Given the description of an element on the screen output the (x, y) to click on. 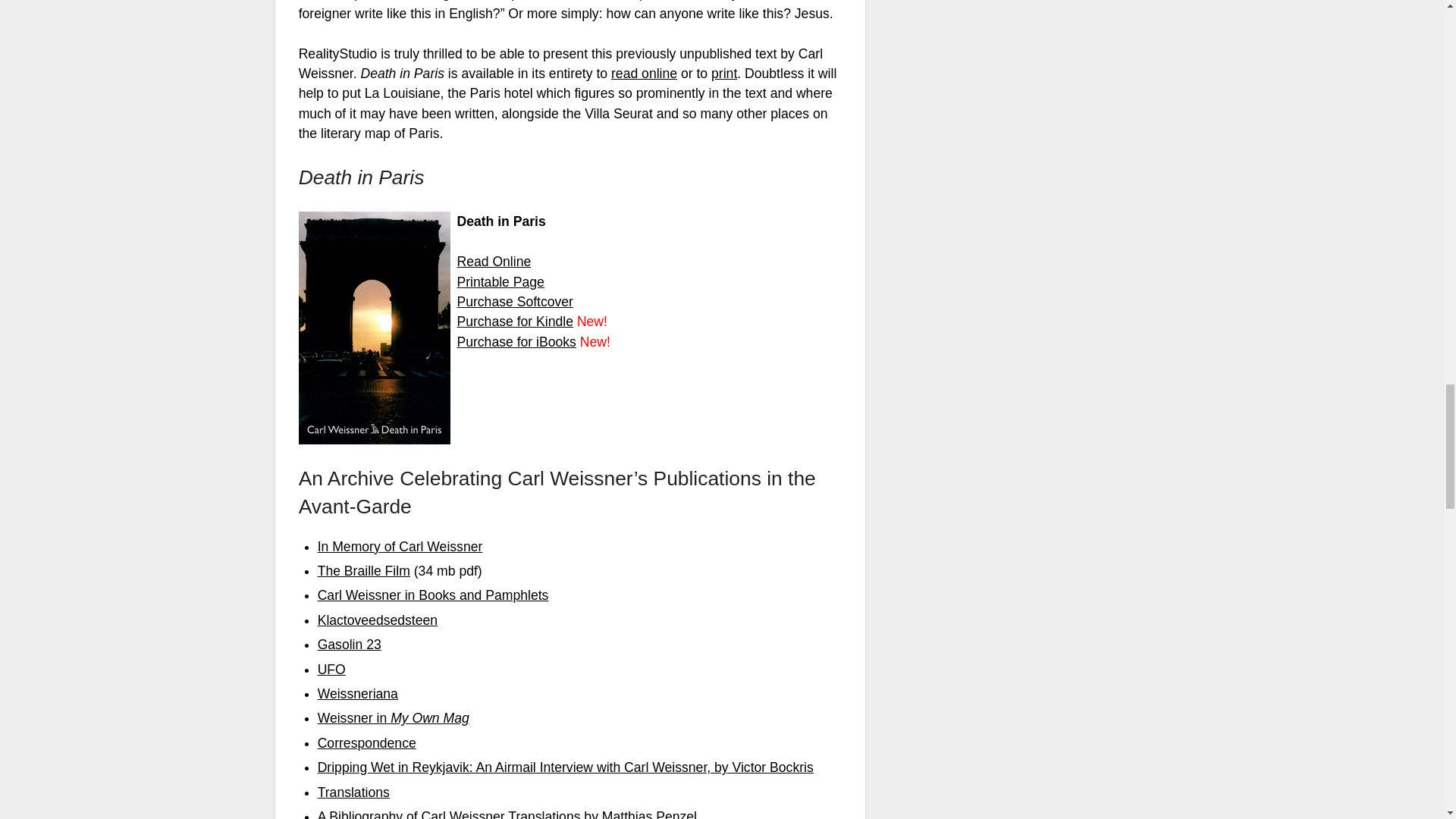
Weissneriana (357, 693)
Printable Page (500, 281)
Gasolin 23 (349, 644)
read online (644, 73)
The Braille Film (363, 570)
A Bibliography of Carl Weissner Translations (448, 814)
Carl Weissner in Books and Pamphlets (432, 595)
print (723, 73)
Translations (353, 792)
Purchase Softcover (515, 301)
Klactoveedsedsteen (377, 620)
In Memory of Carl Weissner (400, 546)
Purchase for Kindle (515, 321)
Weissner in My Own Mag (392, 717)
